Given the description of an element on the screen output the (x, y) to click on. 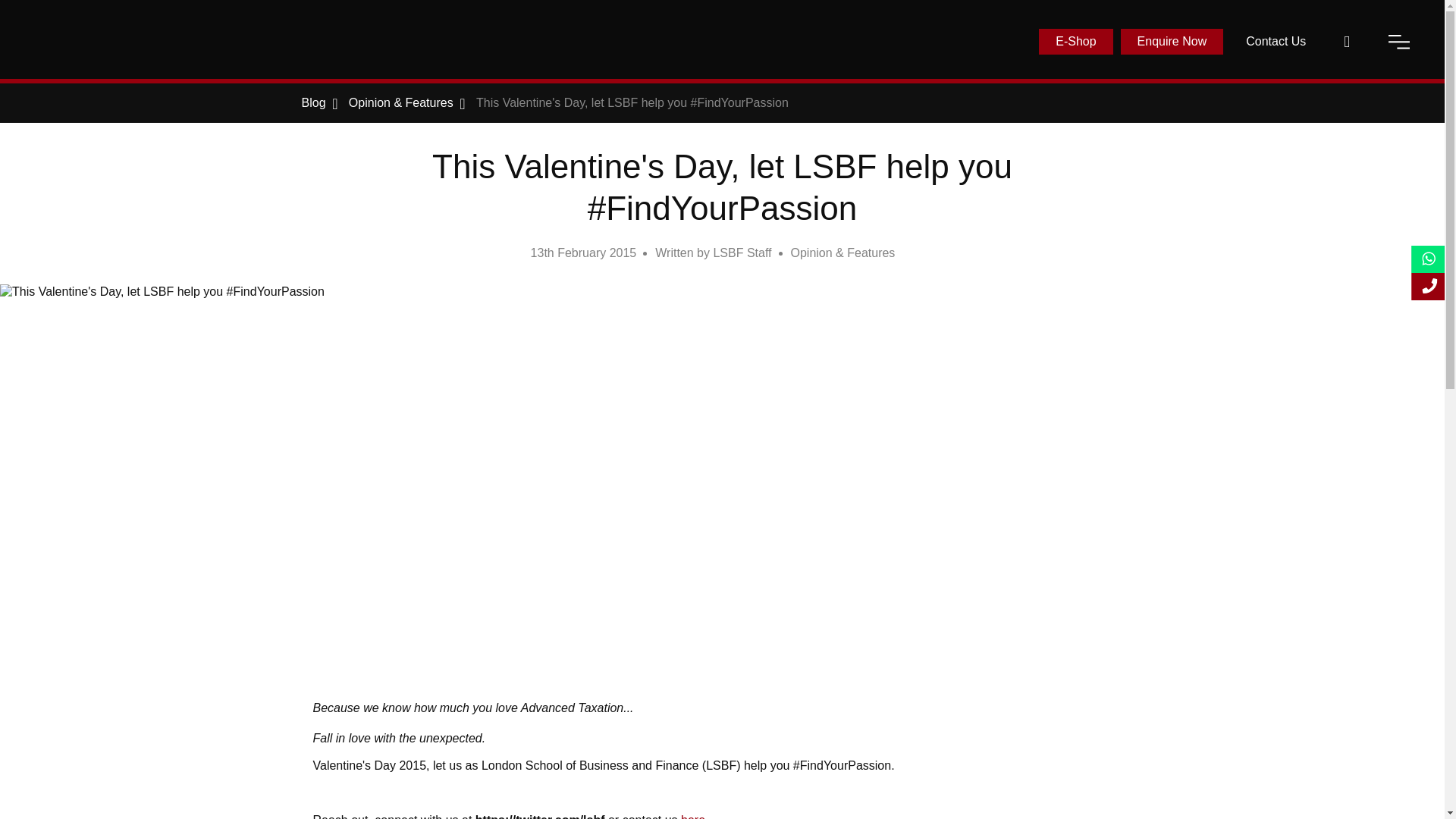
Enquire Now (1172, 41)
LSBF Staff (742, 252)
LSBF Staff (742, 252)
Contact Us (1275, 41)
E-Shop (1075, 41)
here (692, 816)
